Given the description of an element on the screen output the (x, y) to click on. 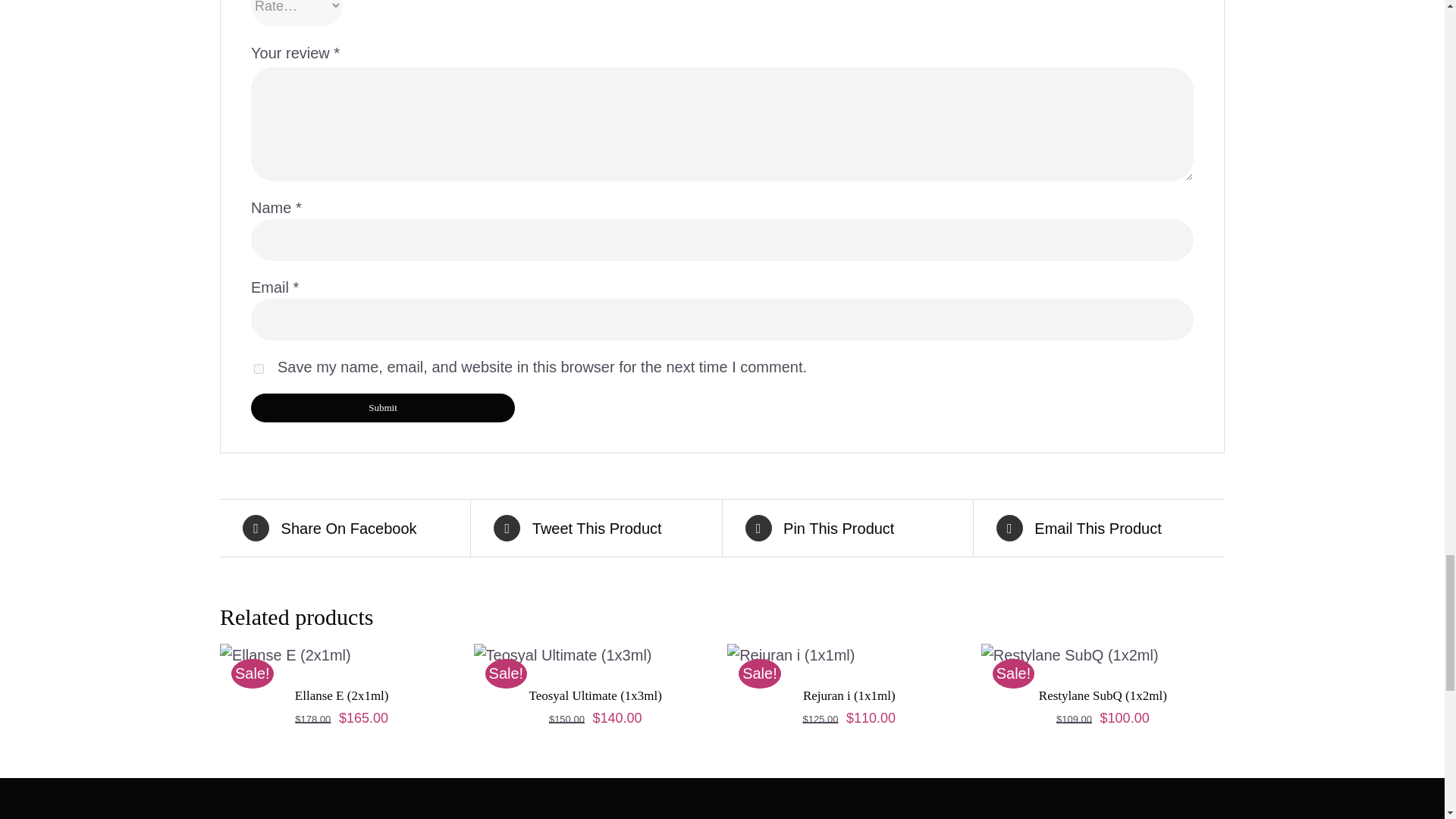
Tweet This Product (595, 528)
yes (258, 368)
Submit (382, 407)
Submit (382, 407)
Email This Product (1098, 528)
Share On Facebook (344, 528)
Pin This Product (846, 528)
